Given the description of an element on the screen output the (x, y) to click on. 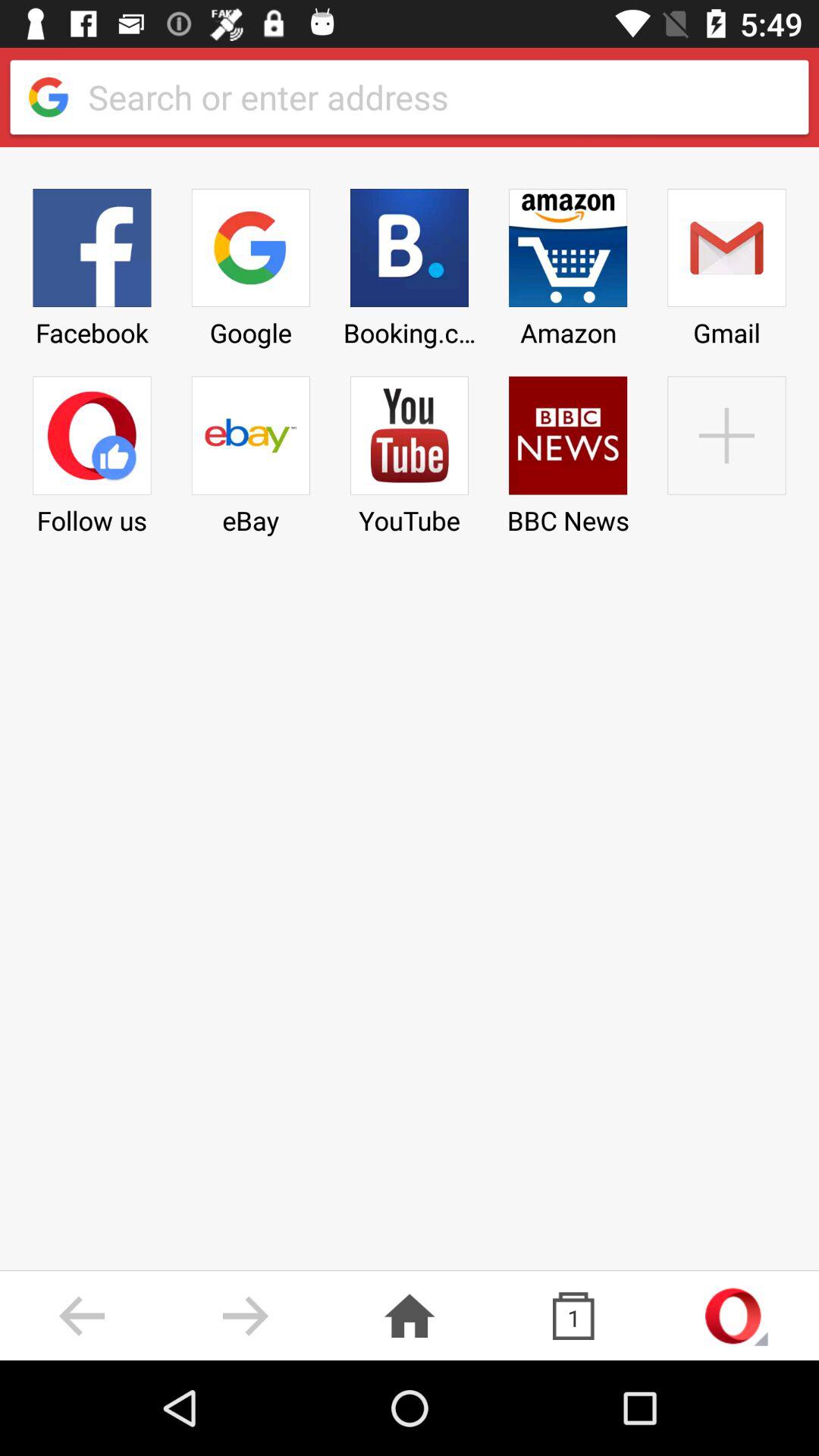
select item next to the amazon icon (726, 450)
